Given the description of an element on the screen output the (x, y) to click on. 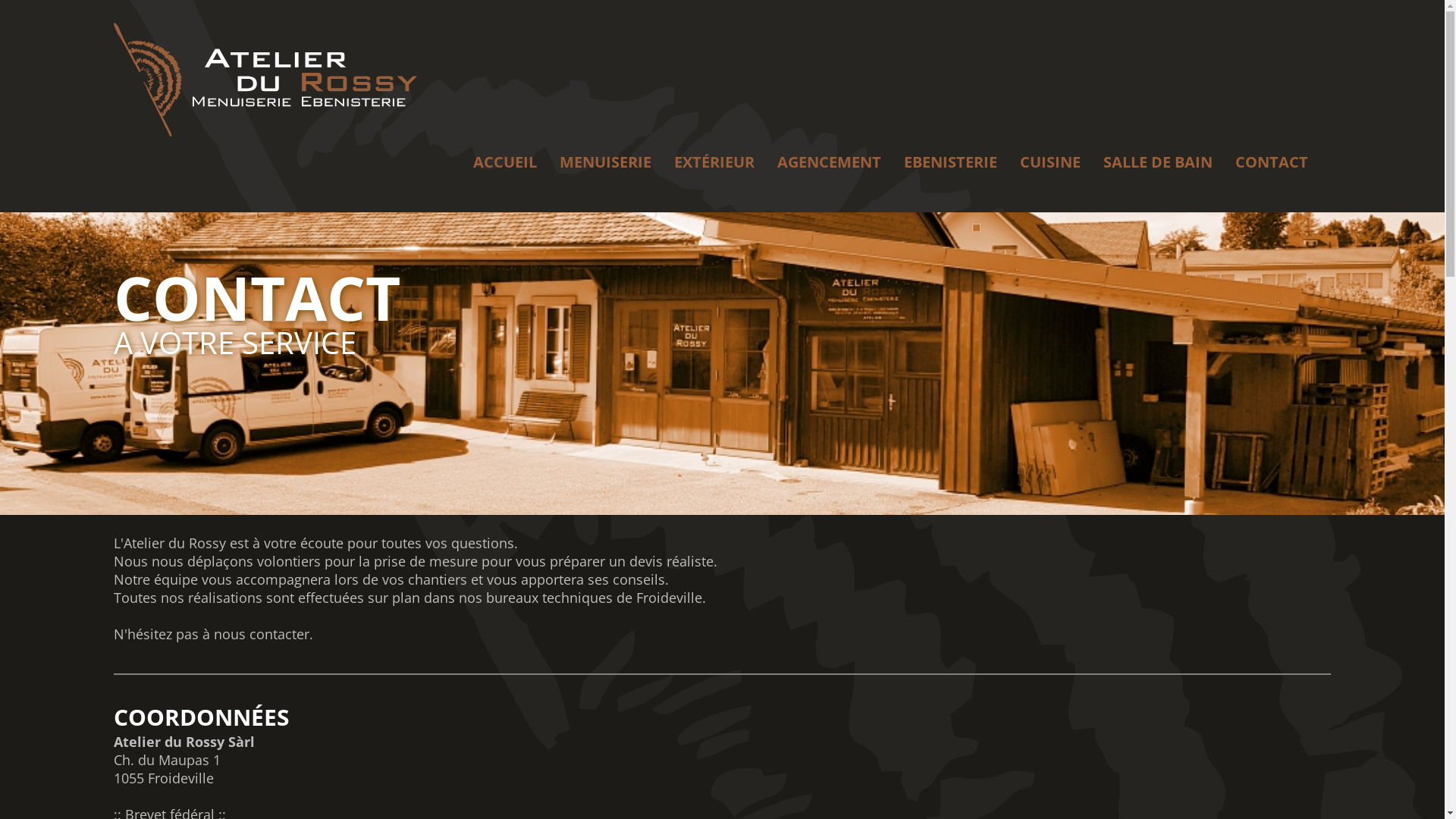
MENUISERIE Element type: text (605, 161)
SALLE DE BAIN Element type: text (1157, 161)
CONTACT Element type: text (1271, 161)
EBENISTERIE Element type: text (950, 161)
AGENCEMENT Element type: text (829, 161)
ACCUEIL Element type: text (504, 161)
CUISINE Element type: text (1049, 161)
